Given the description of an element on the screen output the (x, y) to click on. 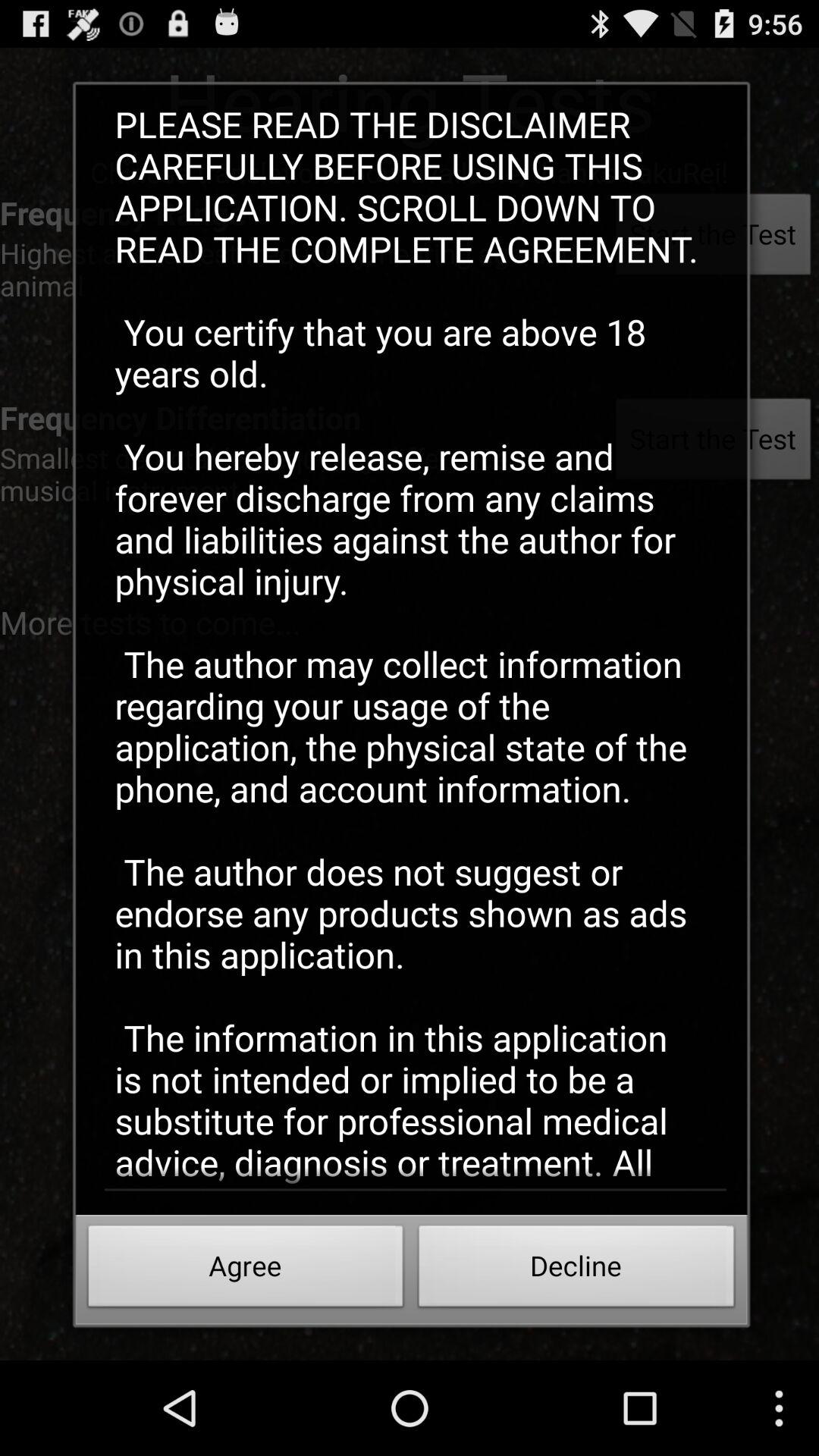
flip to agree button (245, 1270)
